Given the description of an element on the screen output the (x, y) to click on. 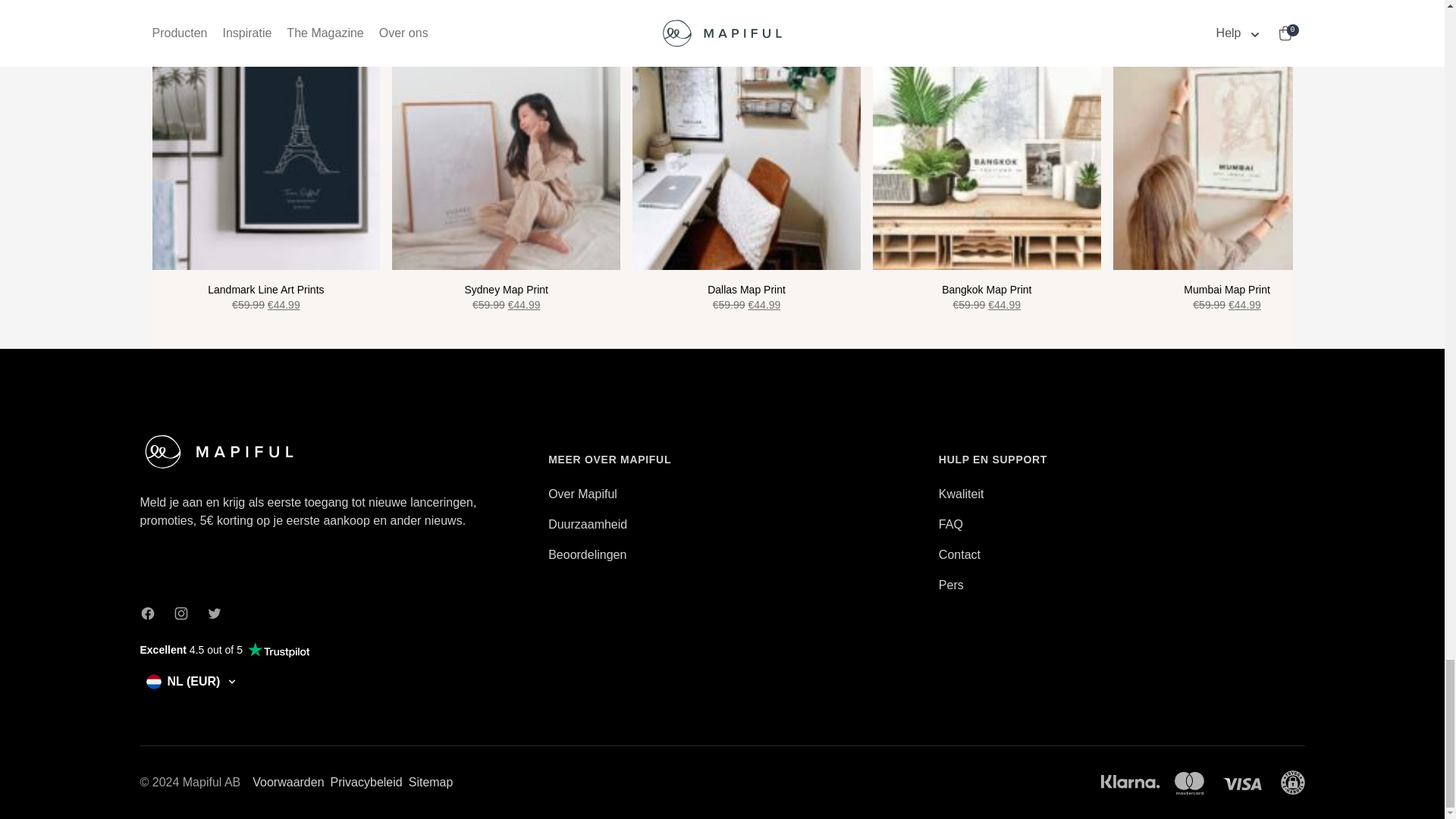
Dallas Map Print (745, 155)
Mumbai Map Print (1226, 297)
Bangkok Map Print (986, 297)
Landmark Line Art Prints (265, 155)
Sydney Map Print (505, 155)
Dallas Map Print (745, 297)
Bangkok Map Print (986, 155)
Sydney Map Print (505, 297)
Mumbai Map Print (1226, 155)
Landmark Line Art Prints (265, 297)
